Given the description of an element on the screen output the (x, y) to click on. 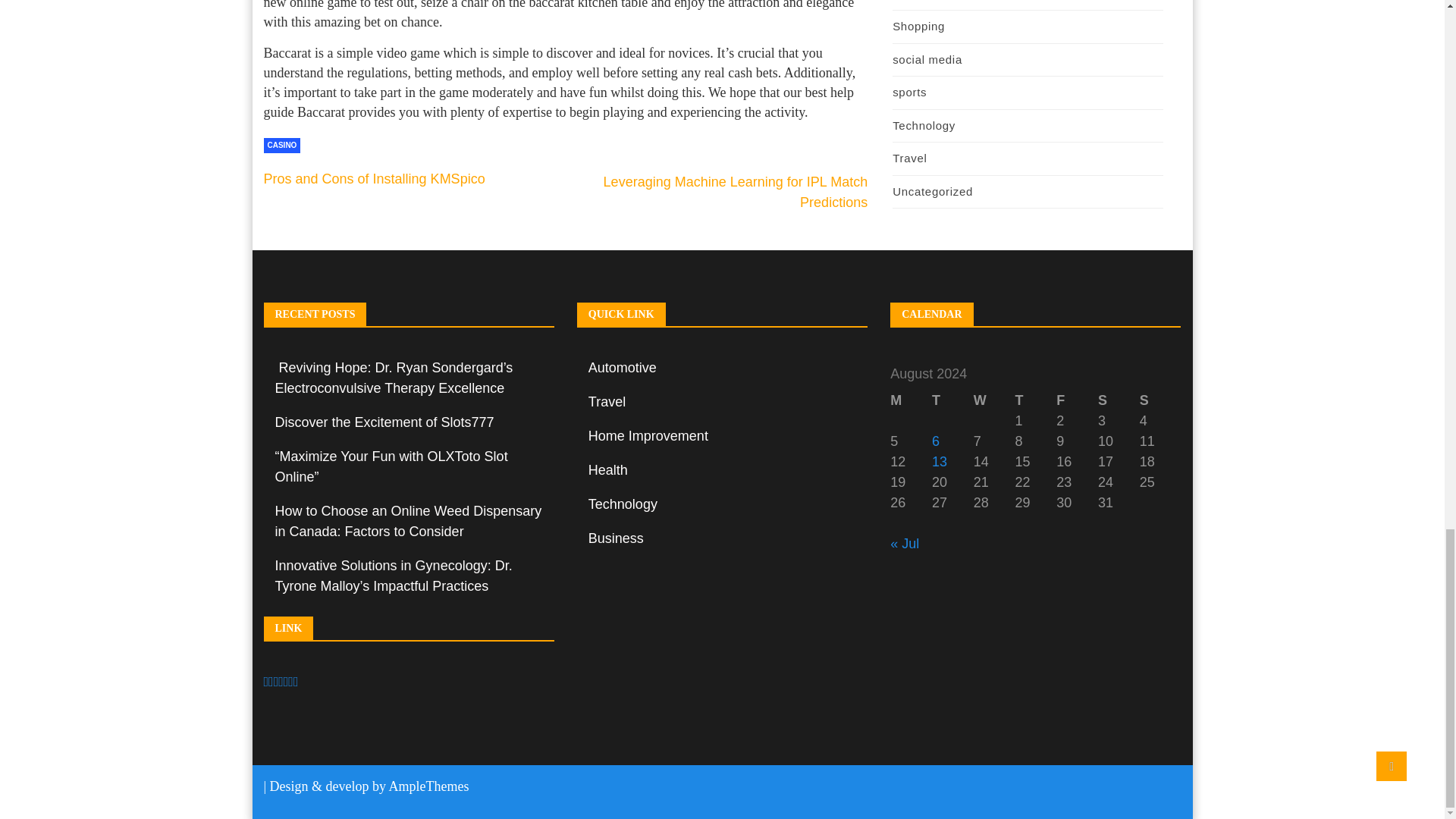
Tuesday (952, 400)
Thursday (1035, 400)
Monday (910, 400)
Sunday (1160, 400)
Friday (1077, 400)
Pros and Cons of Installing KMSpico (373, 178)
Saturday (1118, 400)
CASINO (282, 145)
Wednesday (994, 400)
Leveraging Machine Learning for IPL Match Predictions (735, 191)
